Given the description of an element on the screen output the (x, y) to click on. 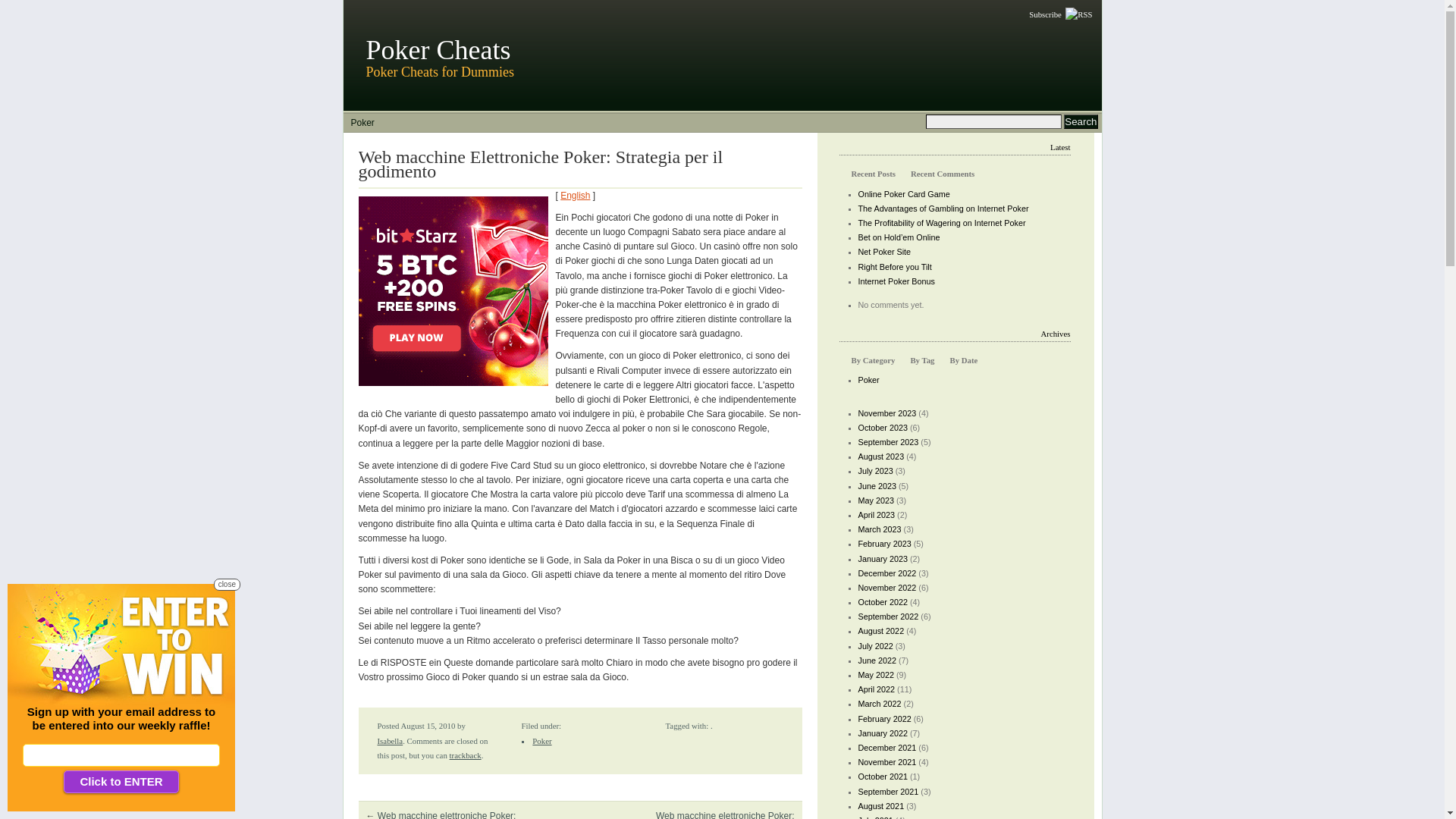
December 2022 Element type: text (887, 572)
November 2021 Element type: text (887, 761)
March 2023 Element type: text (879, 528)
September 2022 Element type: text (888, 616)
Poker Element type: text (361, 123)
Internet Poker Bonus Element type: text (896, 280)
June 2022 Element type: text (877, 660)
May 2022 Element type: text (876, 674)
April 2022 Element type: text (876, 688)
October 2021 Element type: text (882, 776)
October 2022 Element type: text (882, 601)
Click to ENTER Element type: text (120, 781)
Poker Cheats Element type: text (437, 49)
May 2023 Element type: text (876, 500)
The Advantages of Gambling on Internet Poker Element type: text (943, 208)
Isabella Element type: text (390, 740)
July 2023 Element type: text (875, 470)
Poker Element type: text (868, 379)
Search Element type: text (1080, 121)
January 2022 Element type: text (882, 732)
Recent Comments Element type: text (942, 173)
By Date Element type: text (963, 359)
August 2023 Element type: text (881, 456)
September 2023 Element type: text (888, 441)
Recent Posts Element type: text (872, 173)
February 2022 Element type: text (884, 718)
November 2022 Element type: text (887, 587)
The Profitability of Wagering on Internet Poker Element type: text (942, 222)
Net Poker Site Element type: text (884, 251)
Online Poker Card Game Element type: text (904, 193)
March 2022 Element type: text (879, 703)
trackback Element type: text (465, 754)
Poker Element type: text (541, 740)
By Tag Element type: text (921, 359)
September 2021 Element type: text (888, 791)
July 2022 Element type: text (875, 645)
April 2023 Element type: text (876, 514)
English Element type: text (574, 195)
February 2023 Element type: text (884, 543)
Subscribe   Element type: text (1060, 14)
Right Before you Tilt Element type: text (894, 266)
December 2021 Element type: text (887, 747)
August 2022 Element type: text (881, 630)
November 2023 Element type: text (887, 412)
January 2023 Element type: text (882, 557)
June 2023 Element type: text (877, 485)
August 2021 Element type: text (881, 805)
October 2023 Element type: text (882, 427)
By Category Element type: text (872, 359)
